Given the description of an element on the screen output the (x, y) to click on. 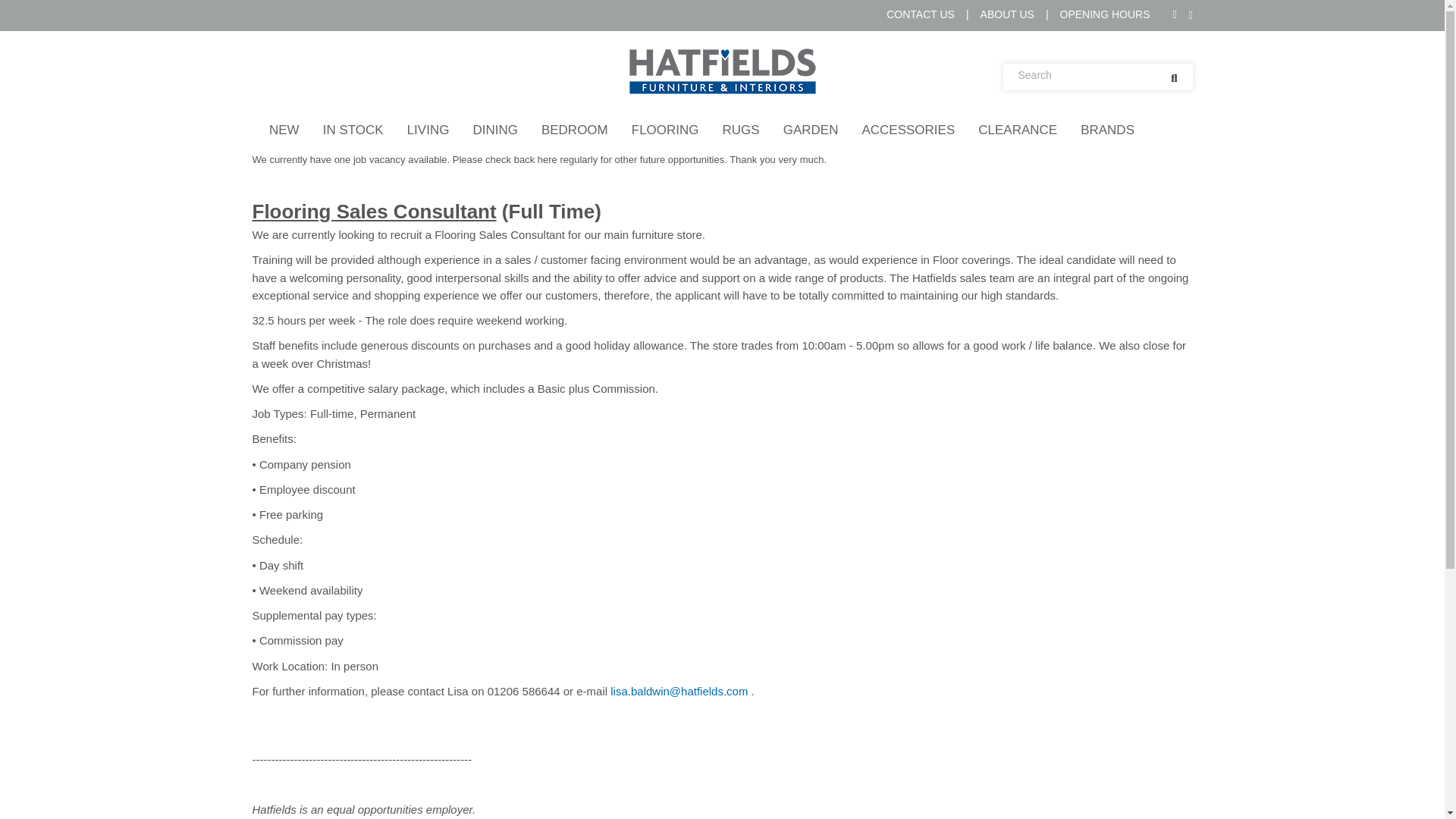
About Us (1006, 14)
ABOUT US (1006, 14)
Contact Us (920, 14)
OPENING HOURS (1104, 14)
NEW (284, 130)
IN STOCK (352, 130)
LIVING (428, 130)
Opening Hours (1104, 14)
CONTACT US (920, 14)
